Given the description of an element on the screen output the (x, y) to click on. 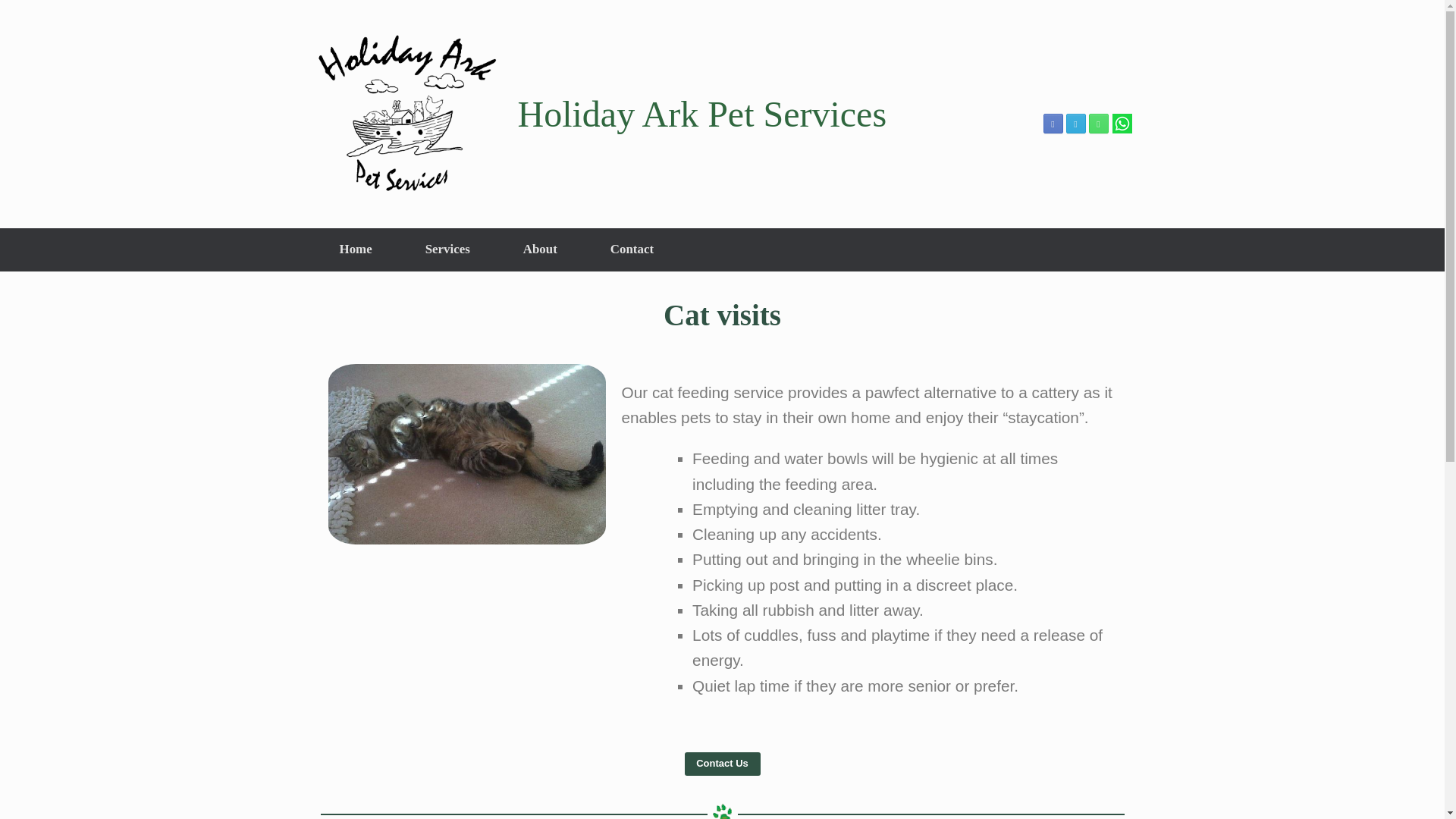
Holiday Ark Pet Services Phone (1098, 123)
Contact (631, 249)
Home (355, 249)
Holiday Ark Pet Services (599, 114)
Holiday Ark Pet Services Email (1075, 123)
About (539, 249)
Open WhatsApp Chat (1121, 129)
Open the Contact Us page (722, 763)
Services (447, 249)
Holiday Ark Pet Services (599, 114)
